Given the description of an element on the screen output the (x, y) to click on. 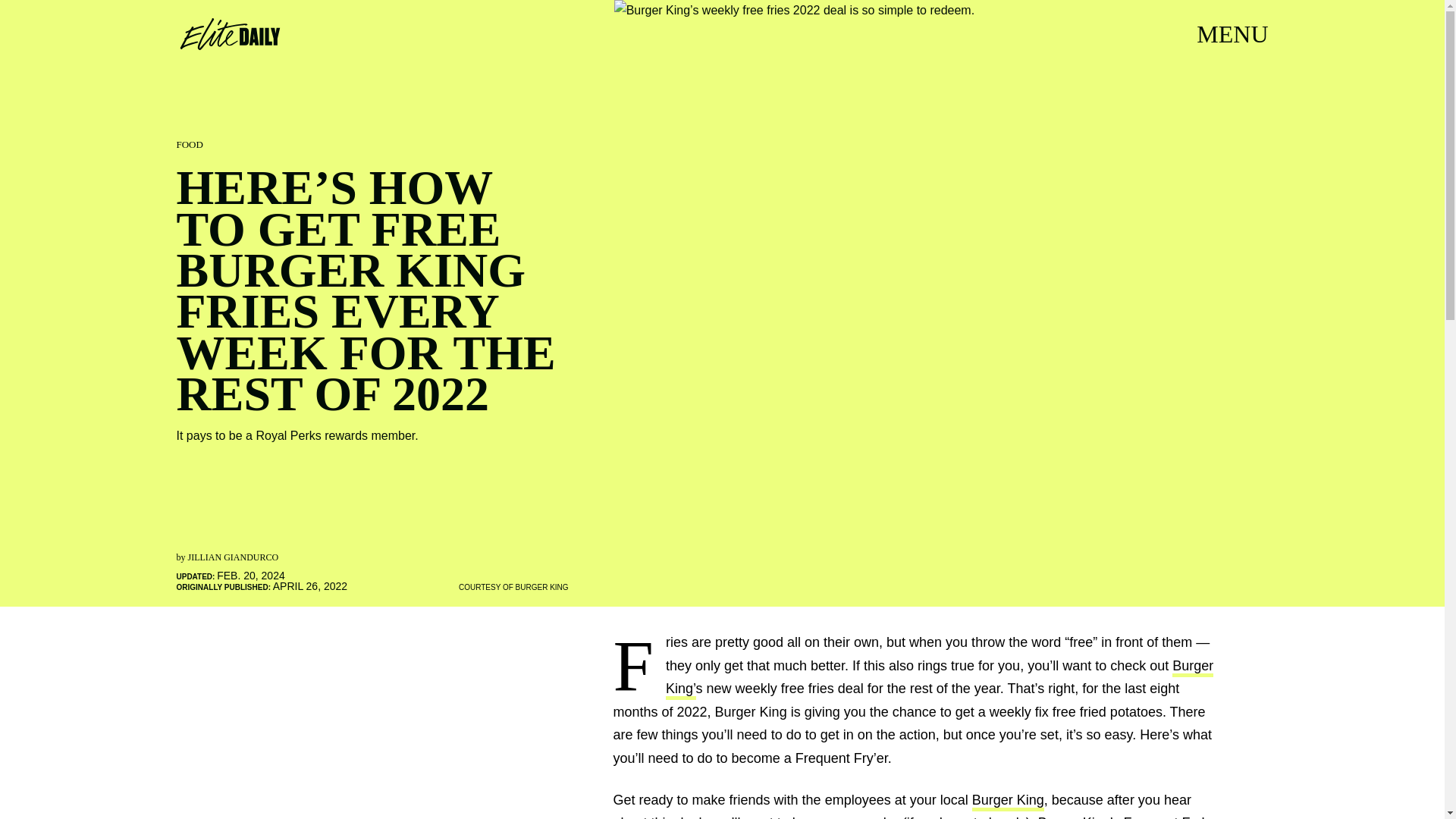
Elite Daily (229, 33)
Burger King (1007, 801)
JILLIAN GIANDURCO (233, 557)
